Given the description of an element on the screen output the (x, y) to click on. 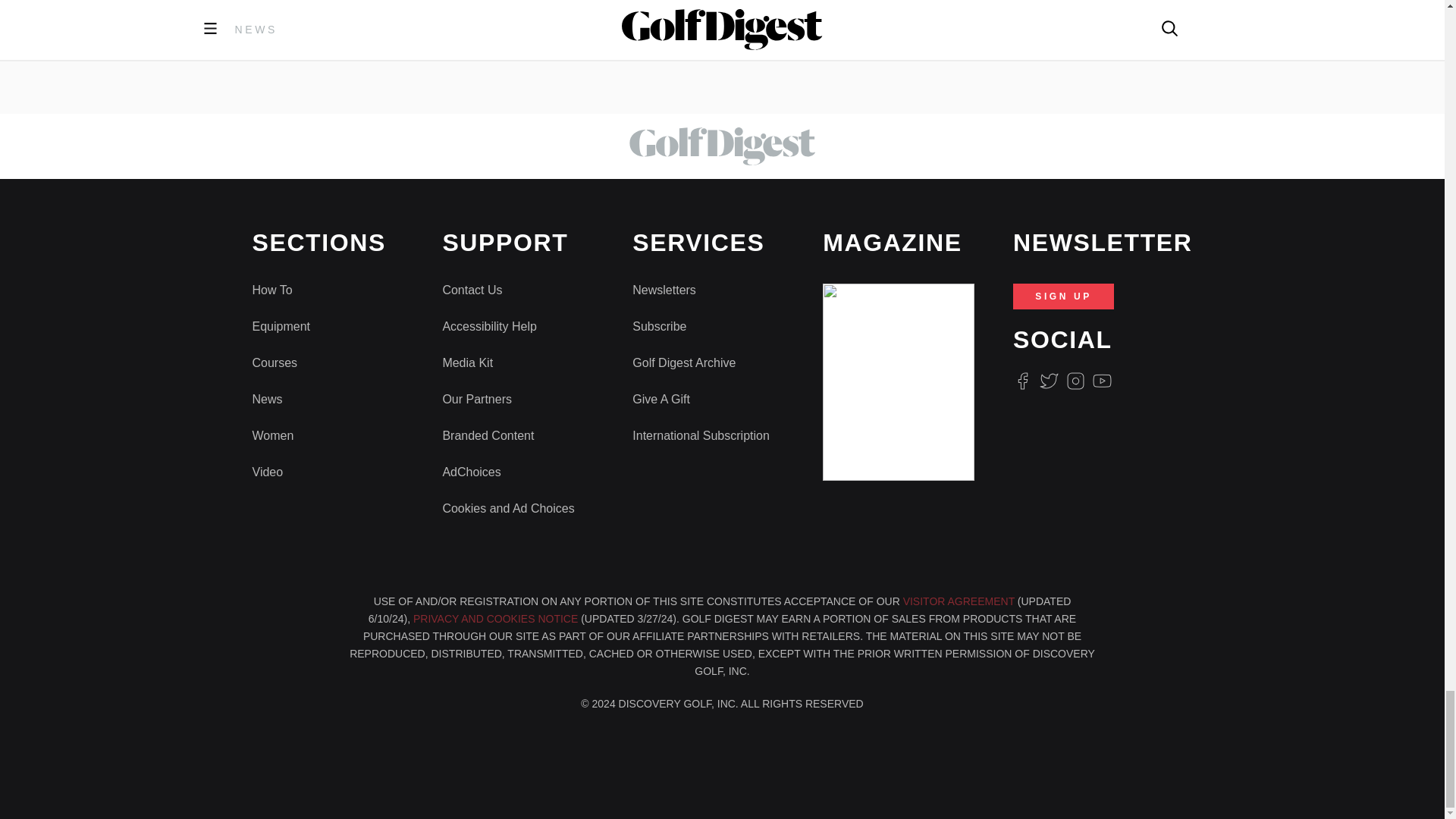
Youtube Icon (1102, 380)
Facebook Logo (1022, 380)
Instagram Logo (1074, 380)
Twitter Logo (1048, 380)
